Given the description of an element on the screen output the (x, y) to click on. 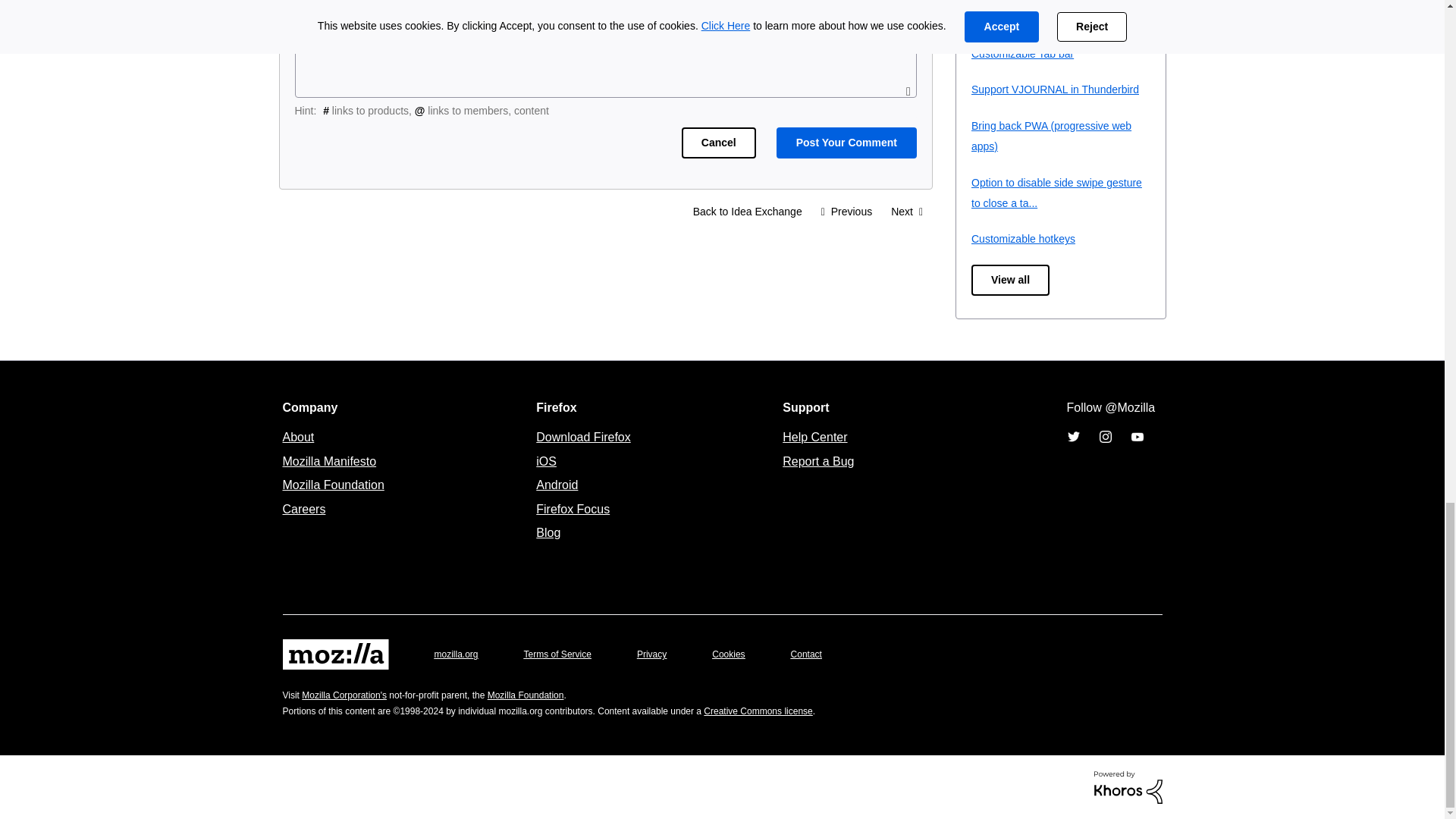
Cancel (718, 142)
Post Your Comment (846, 142)
